Given the description of an element on the screen output the (x, y) to click on. 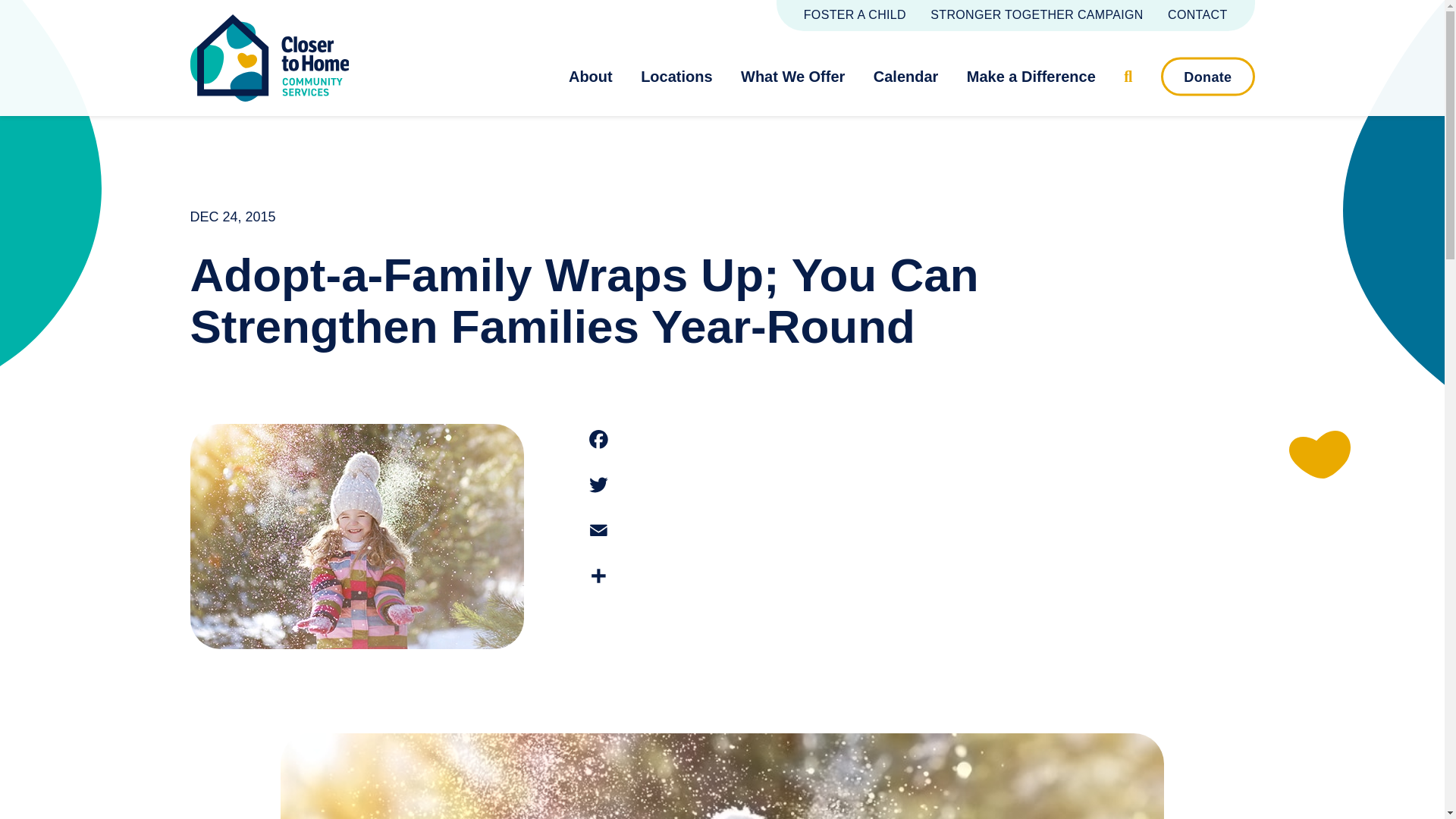
Locations (683, 75)
What We Offer (800, 75)
FOSTER A CHILD (854, 14)
About (598, 75)
Email (598, 531)
Twitter (598, 485)
Calendar (913, 75)
CONTACT (1197, 14)
Facebook (598, 439)
Make a Difference (1037, 75)
